Given the description of an element on the screen output the (x, y) to click on. 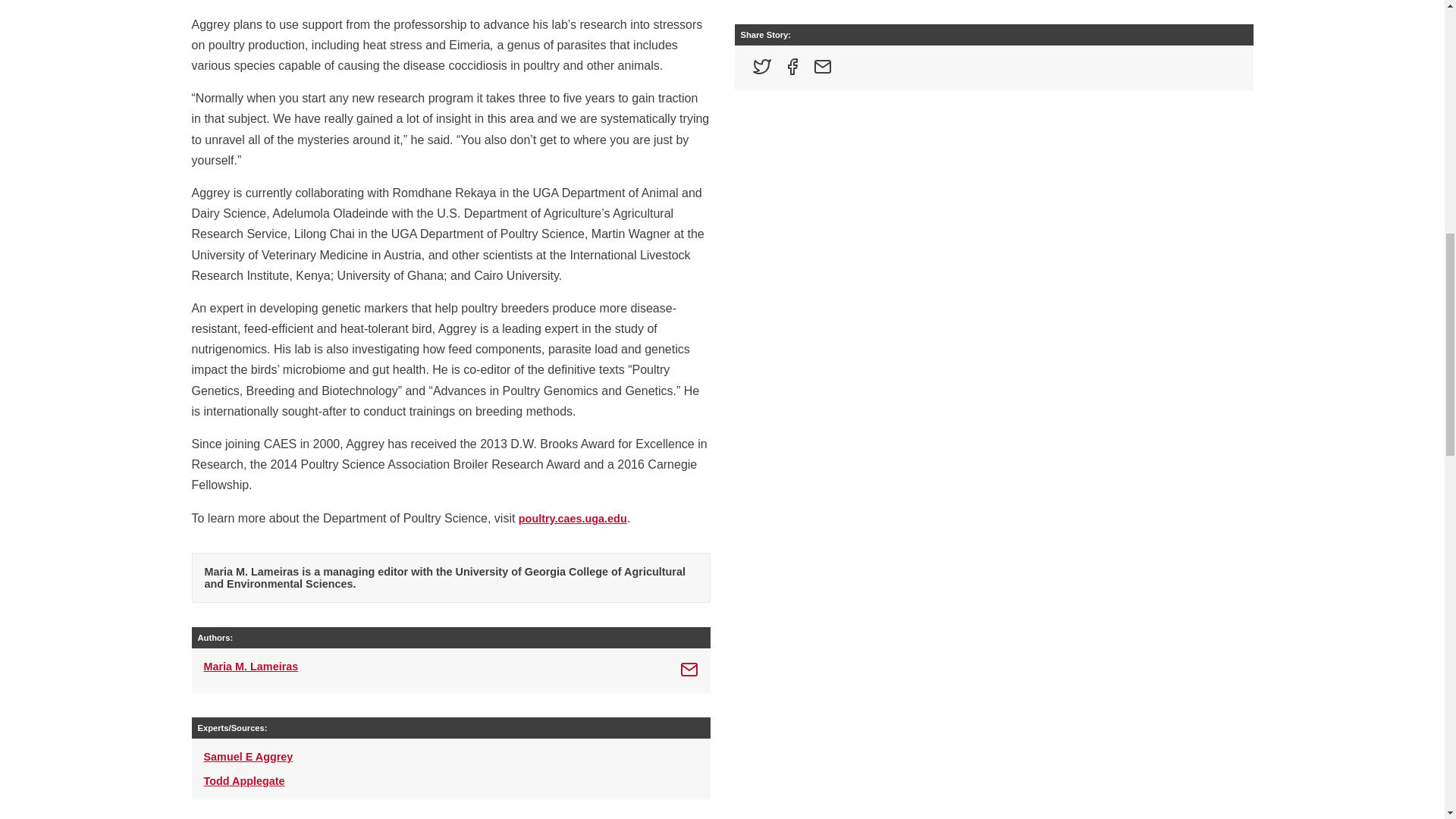
Maria M. Lameiras (250, 670)
Todd Applegate (243, 780)
Samuel E Aggrey (247, 756)
poultry.caes.uga.edu (572, 518)
